Given the description of an element on the screen output the (x, y) to click on. 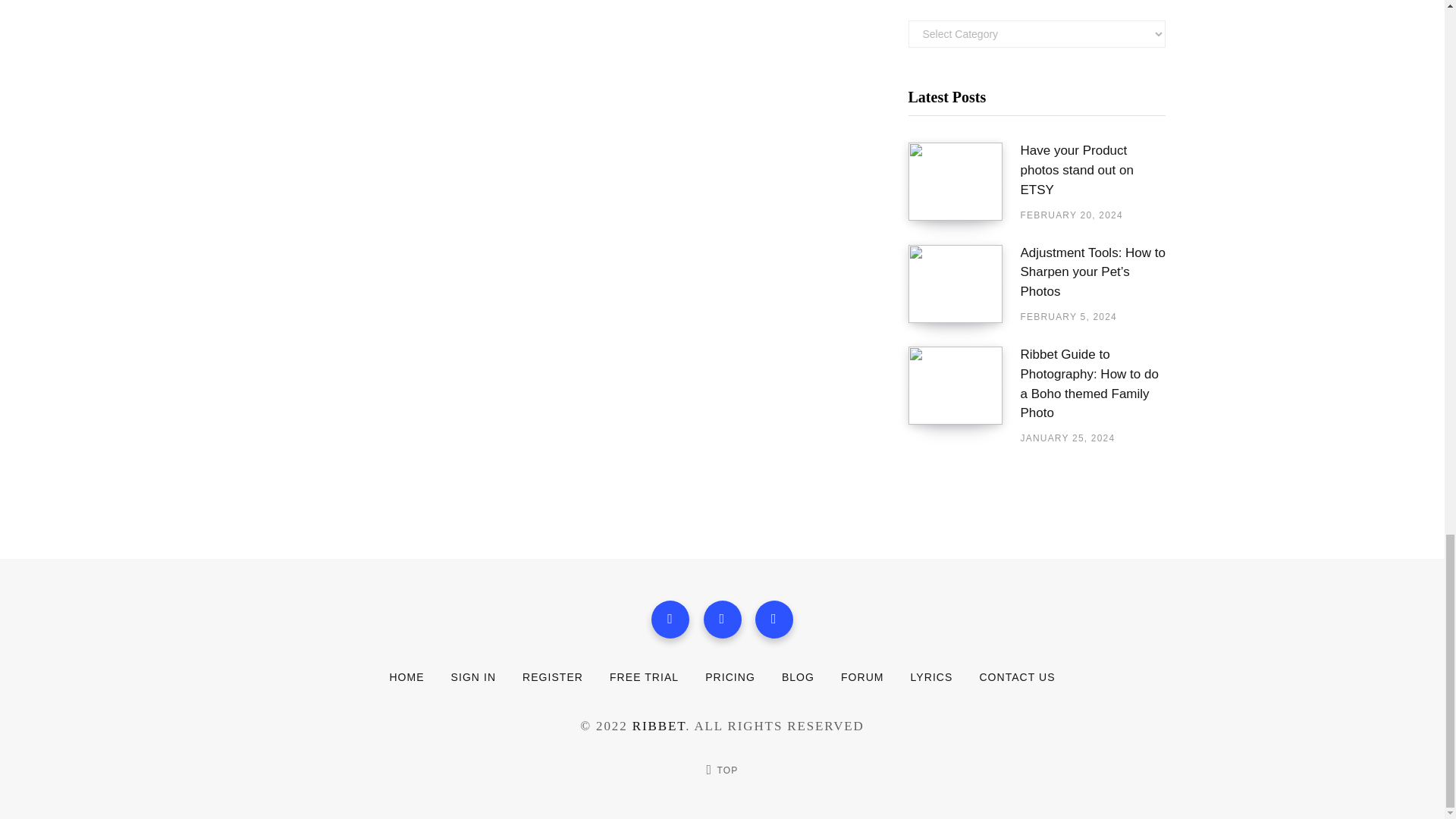
Have your Product photos stand out on ETSY (1093, 169)
Facebook (669, 619)
Instagram (774, 619)
Have your Product photos stand out on ETSY (1093, 169)
